Given the description of an element on the screen output the (x, y) to click on. 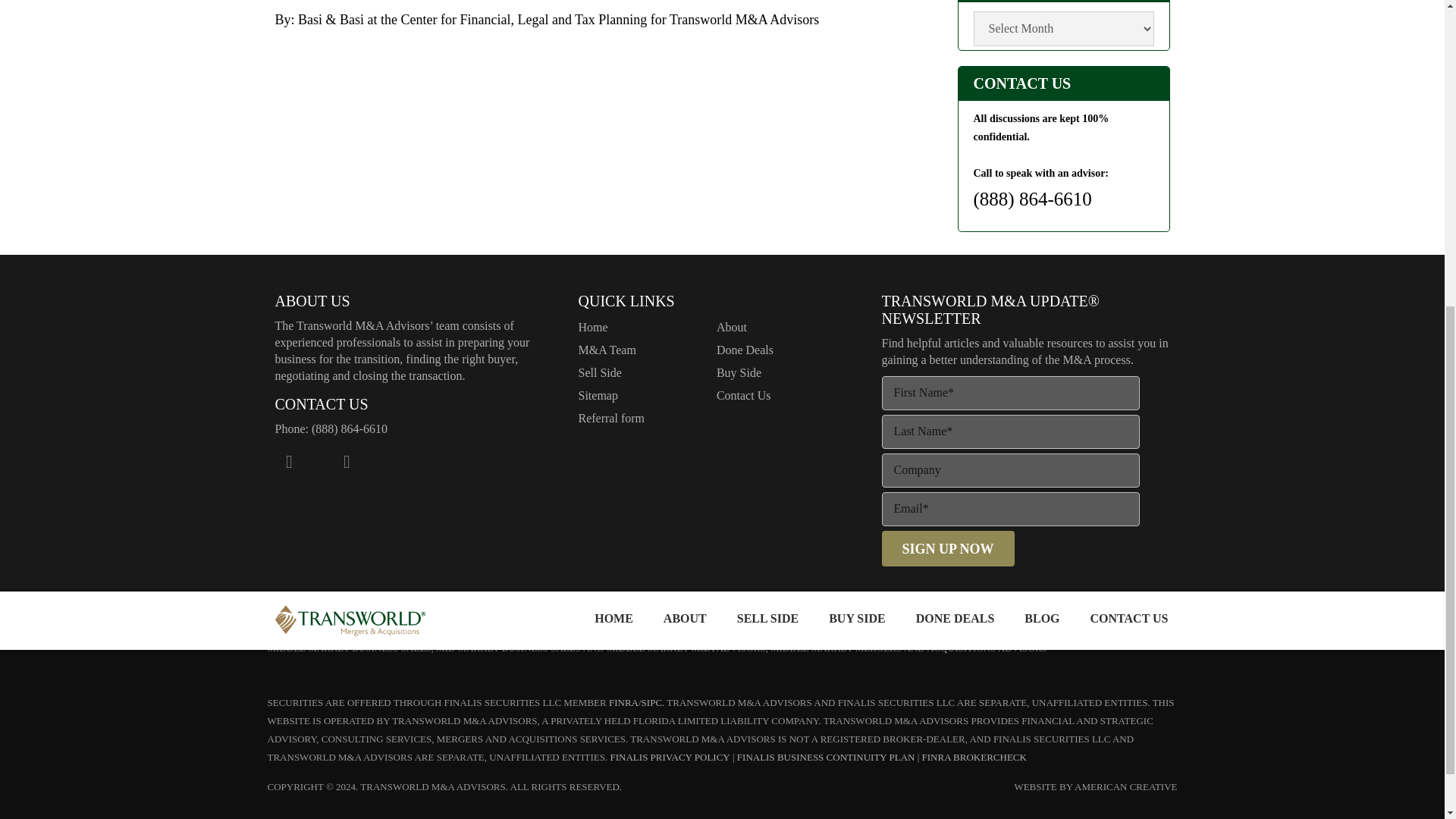
About (731, 327)
LinkedIn (346, 461)
SIGN UP NOW (946, 548)
Sell Side (599, 372)
Twitter (317, 461)
MIDDLE MARKET BUSINESS SALES (348, 647)
MID MARKET BUSINESS SALES (507, 647)
Contact Us (743, 395)
Sitemap (597, 395)
Facebook (288, 461)
Done Deals (744, 349)
Buy Side (738, 372)
SIGN UP NOW (946, 548)
Referral form (611, 418)
Home (592, 327)
